Given the description of an element on the screen output the (x, y) to click on. 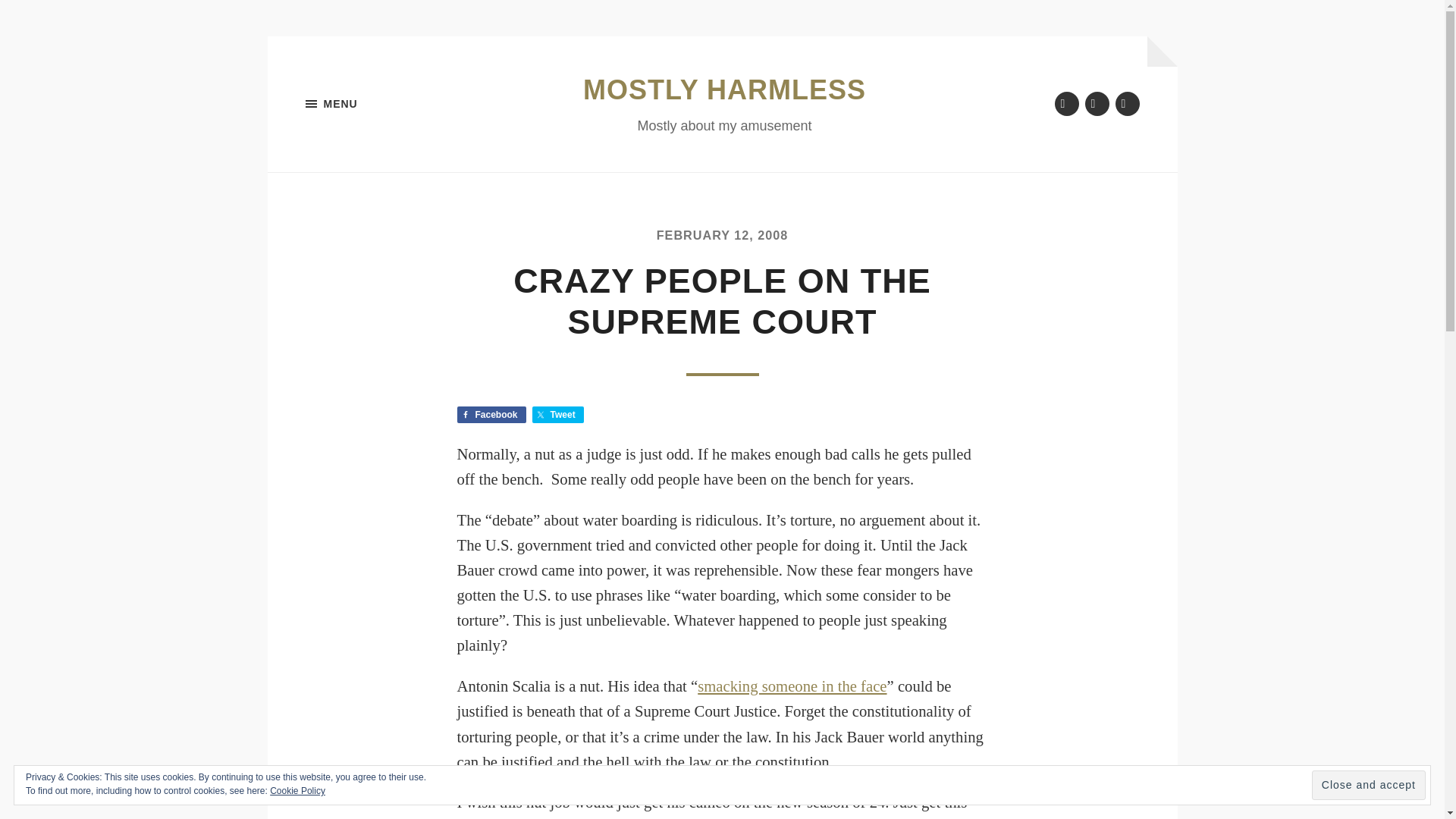
Share on Twitter (557, 414)
Tweet (557, 414)
Share on Facebook (491, 414)
FEBRUARY 12, 2008 (722, 234)
MENU (380, 103)
Facebook (491, 414)
Twitter (1066, 103)
Flickr (1096, 103)
MOSTLY HARMLESS (724, 89)
smacking someone in the face (791, 686)
